Given the description of an element on the screen output the (x, y) to click on. 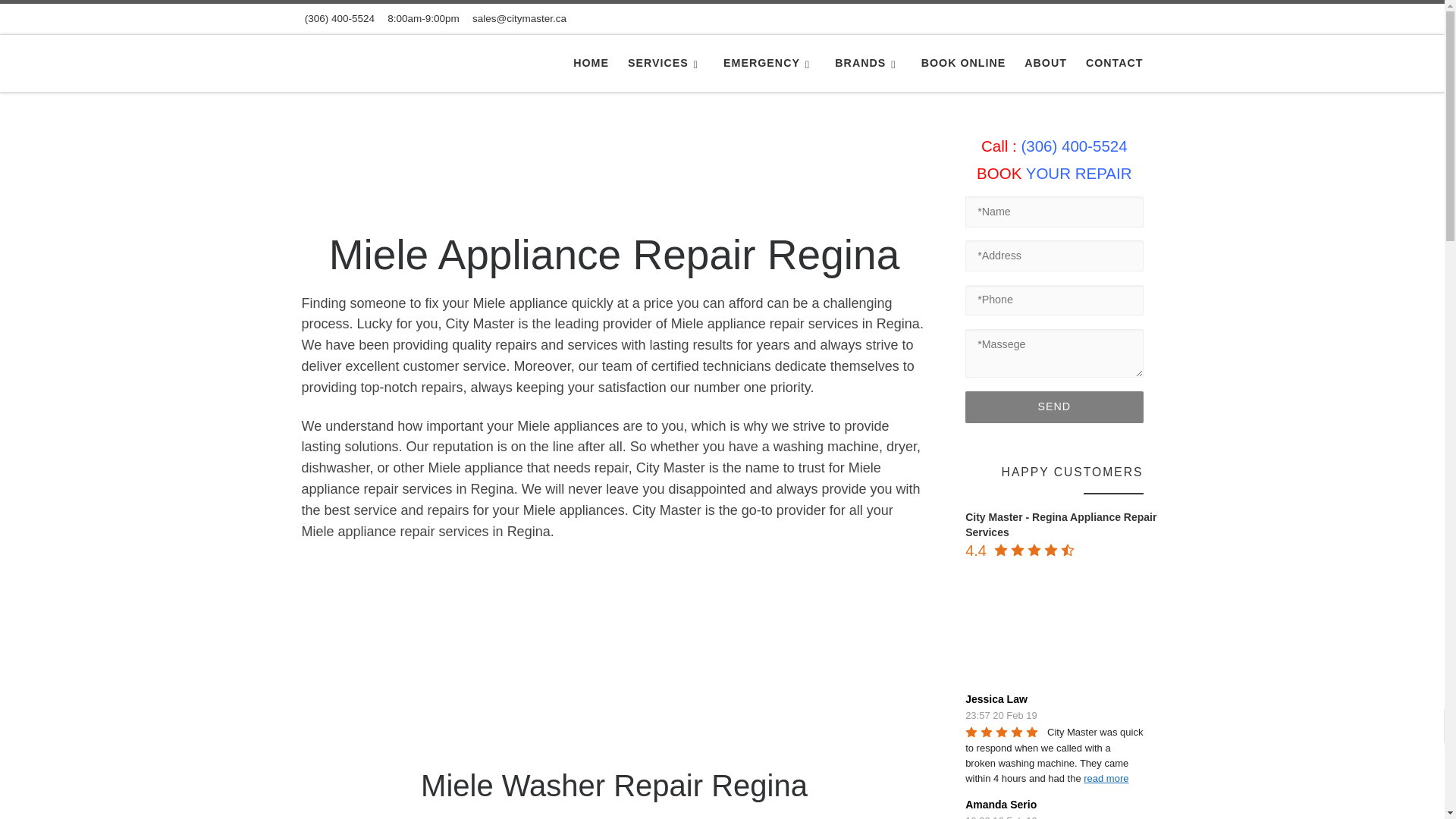
SERVICES (666, 62)
Skip to content (60, 20)
Send (1053, 407)
EMERGENCY (770, 62)
BRANDS (868, 62)
HOME (590, 62)
